Given the description of an element on the screen output the (x, y) to click on. 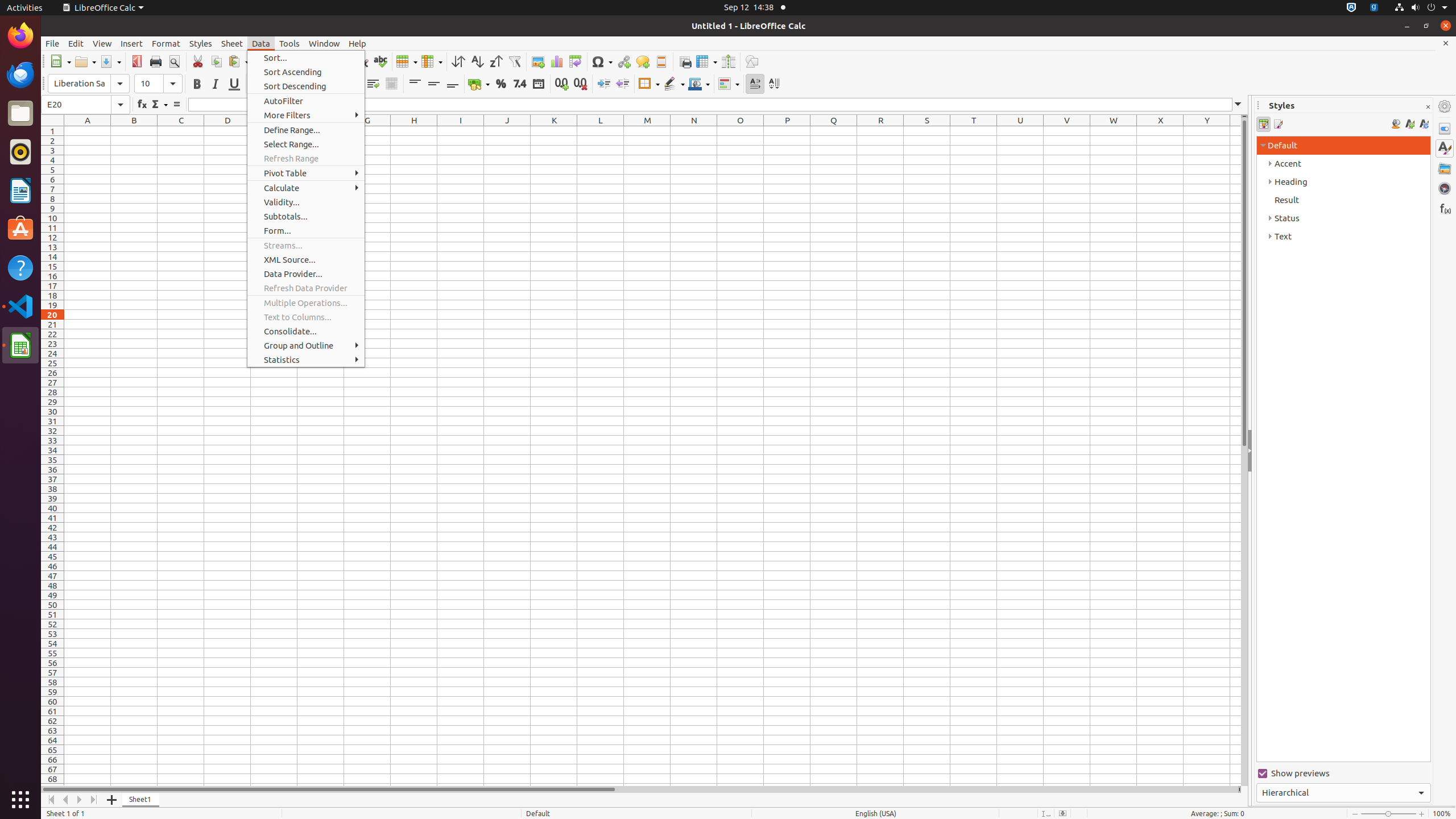
More Filters Element type: menu (305, 115)
Close Sidebar Deck Element type: push-button (1427, 106)
Move Right Element type: push-button (79, 799)
Horizontal scroll bar Element type: scroll-bar (639, 789)
Sort Ascending Element type: menu-item (305, 71)
